Given the description of an element on the screen output the (x, y) to click on. 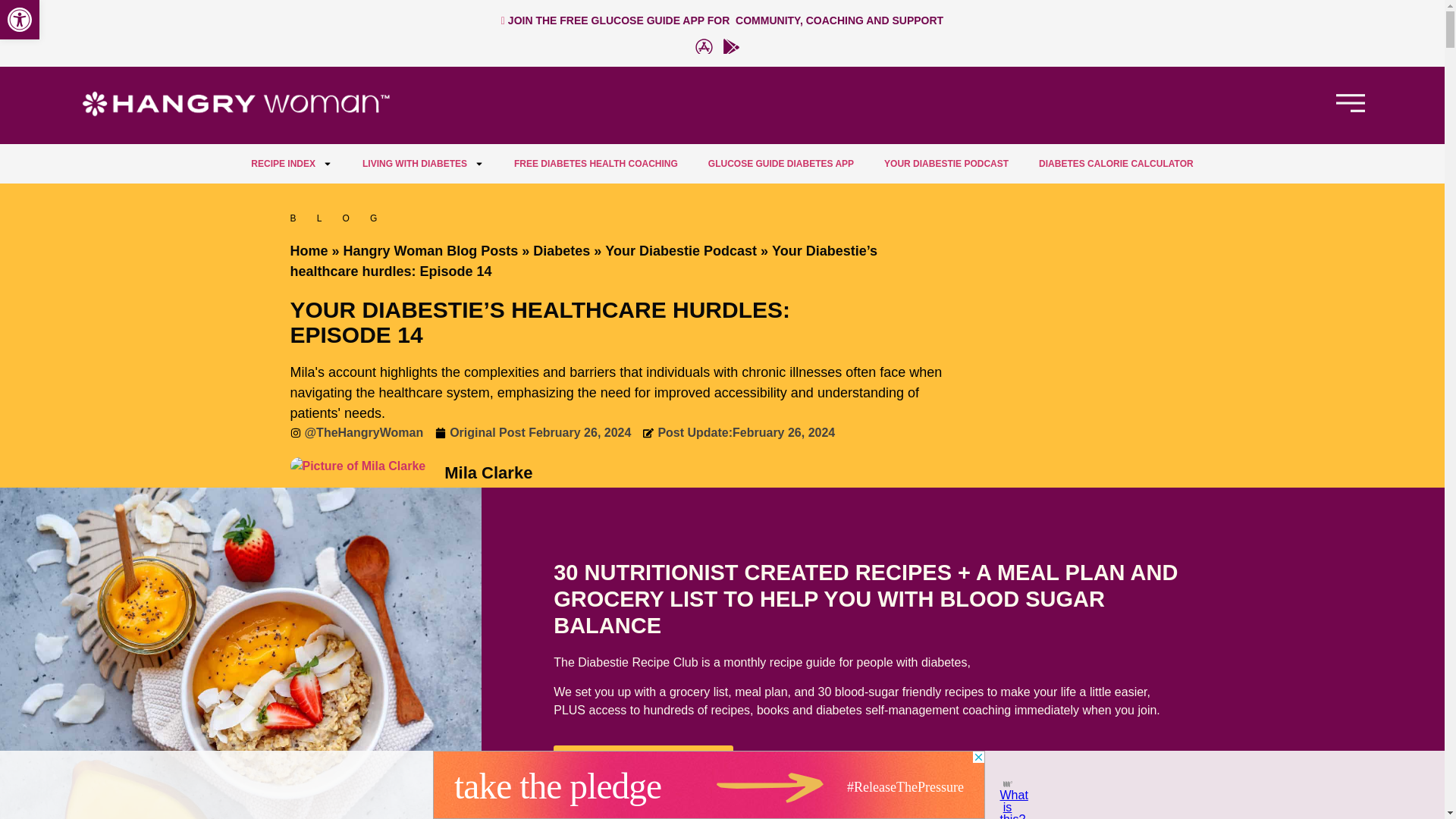
Accessibility Tools (19, 19)
GLUCOSE GUIDE DIABETES APP (781, 163)
DIABETES CALORIE CALCULATOR (1115, 163)
FREE DIABETES HEALTH COACHING (596, 163)
YOUR DIABESTIE PODCAST (946, 163)
LIVING WITH DIABETES (423, 163)
Accessibility Tools (19, 19)
RECIPE INDEX (19, 19)
